Given the description of an element on the screen output the (x, y) to click on. 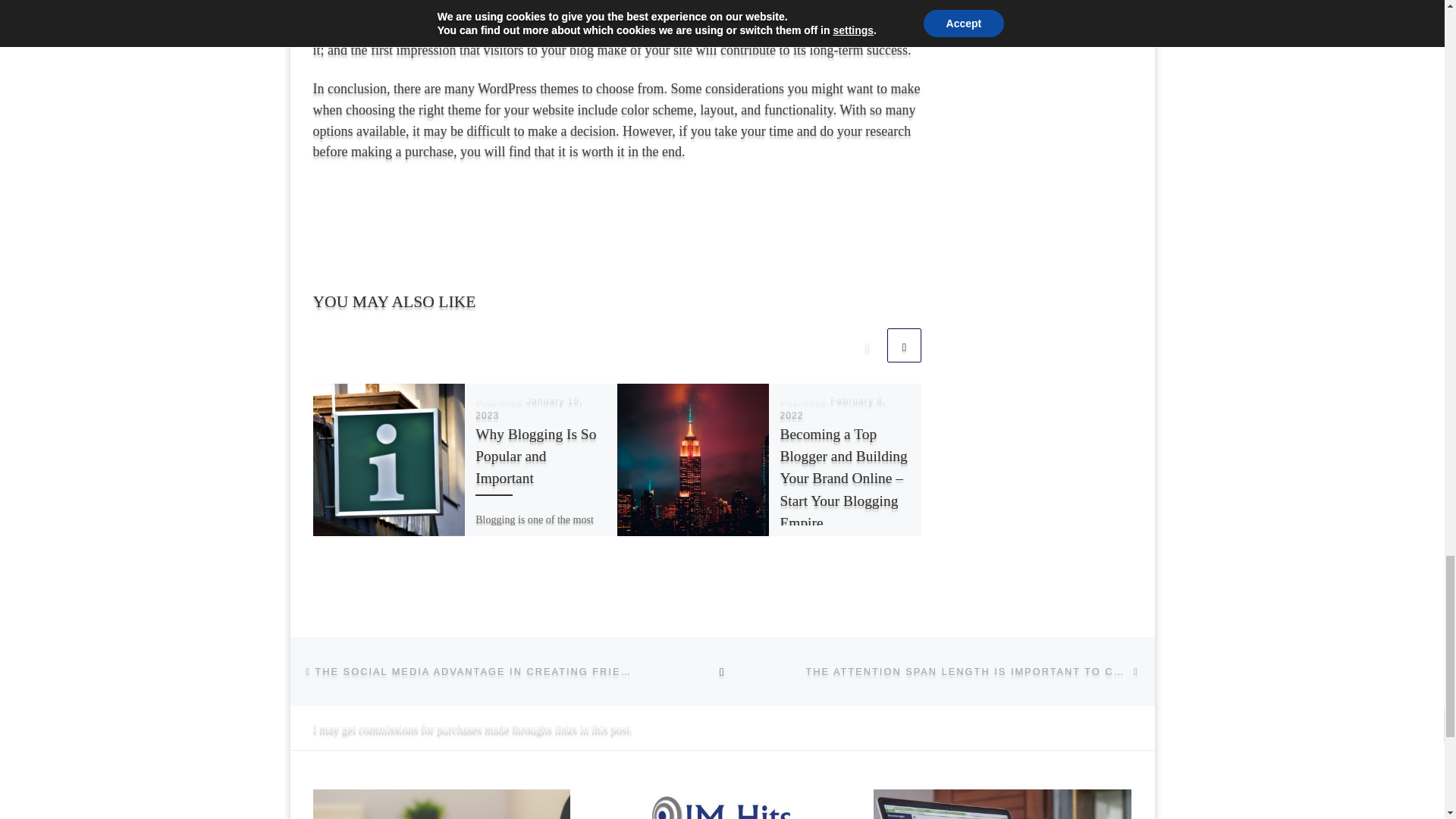
January 15, 2023 (529, 407)
Previous related articles (866, 345)
Why Blogging Is So Popular and Important (535, 455)
Next related articles (903, 345)
